Given the description of an element on the screen output the (x, y) to click on. 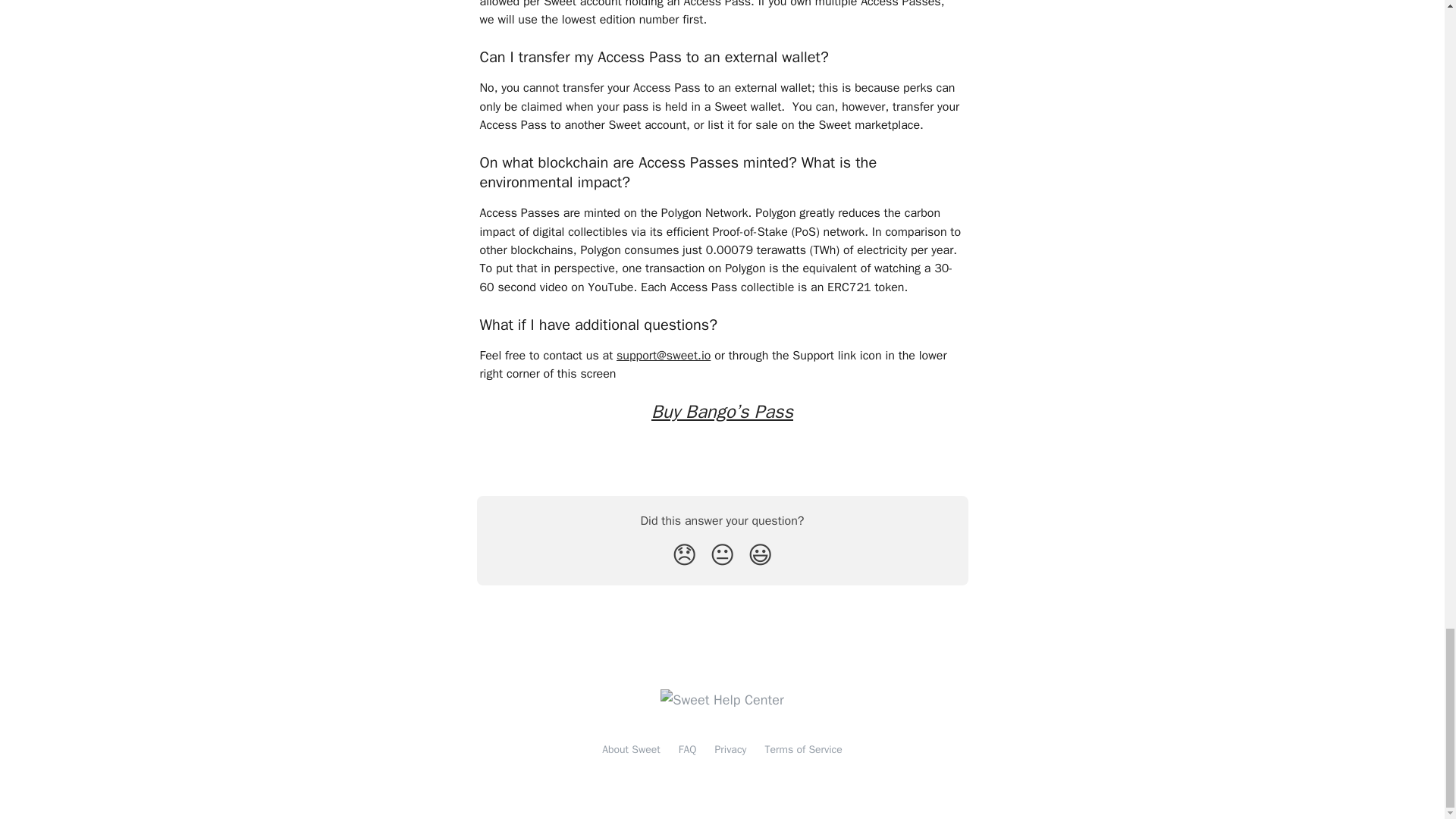
FAQ (687, 748)
Privacy (730, 748)
Terms of Service (802, 748)
About Sweet (631, 748)
